Given the description of an element on the screen output the (x, y) to click on. 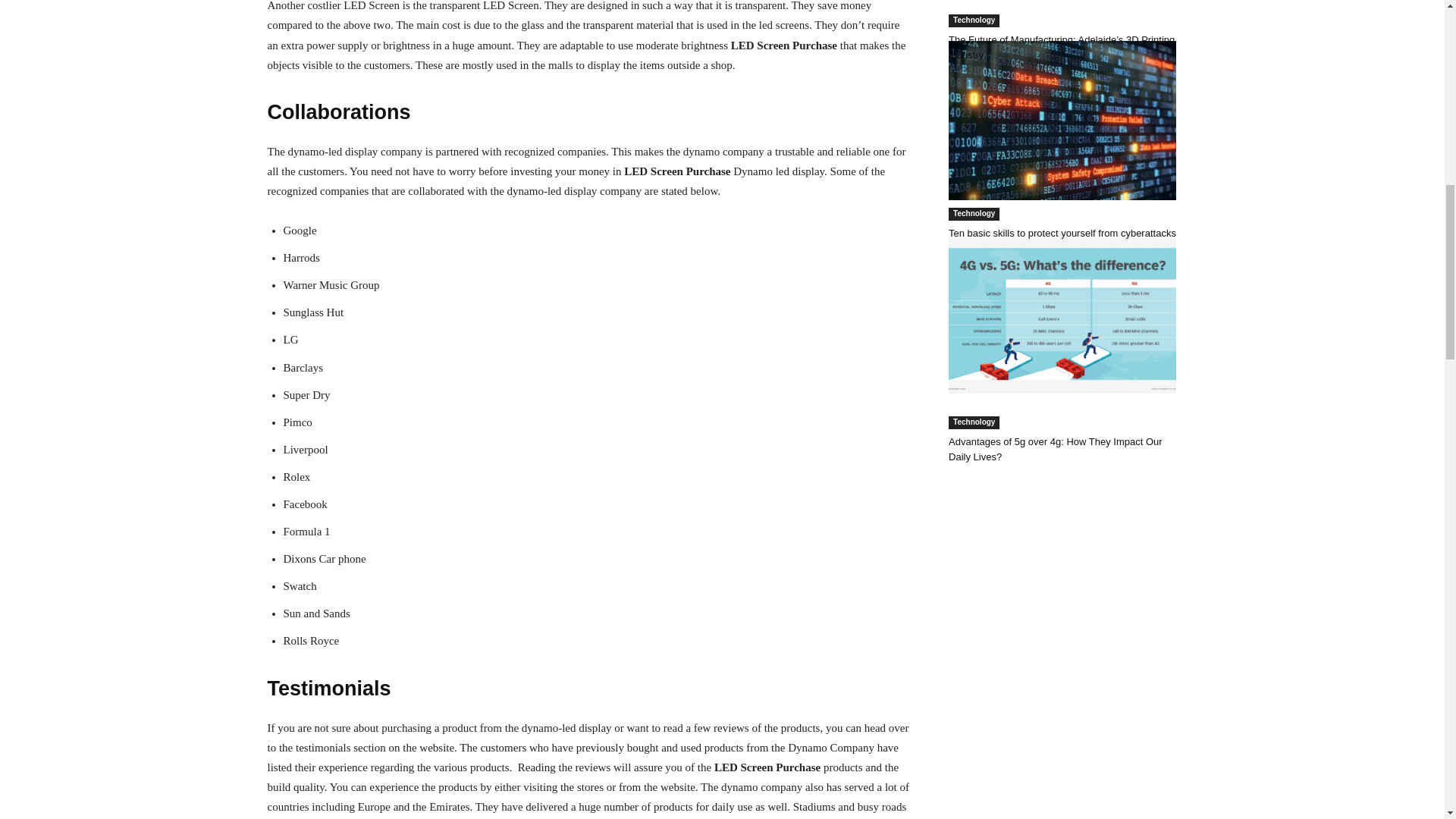
Ten basic skills to protect yourself from cyberattacks (1062, 119)
Ten basic skills to protect yourself from cyberattacks (1062, 233)
